Given the description of an element on the screen output the (x, y) to click on. 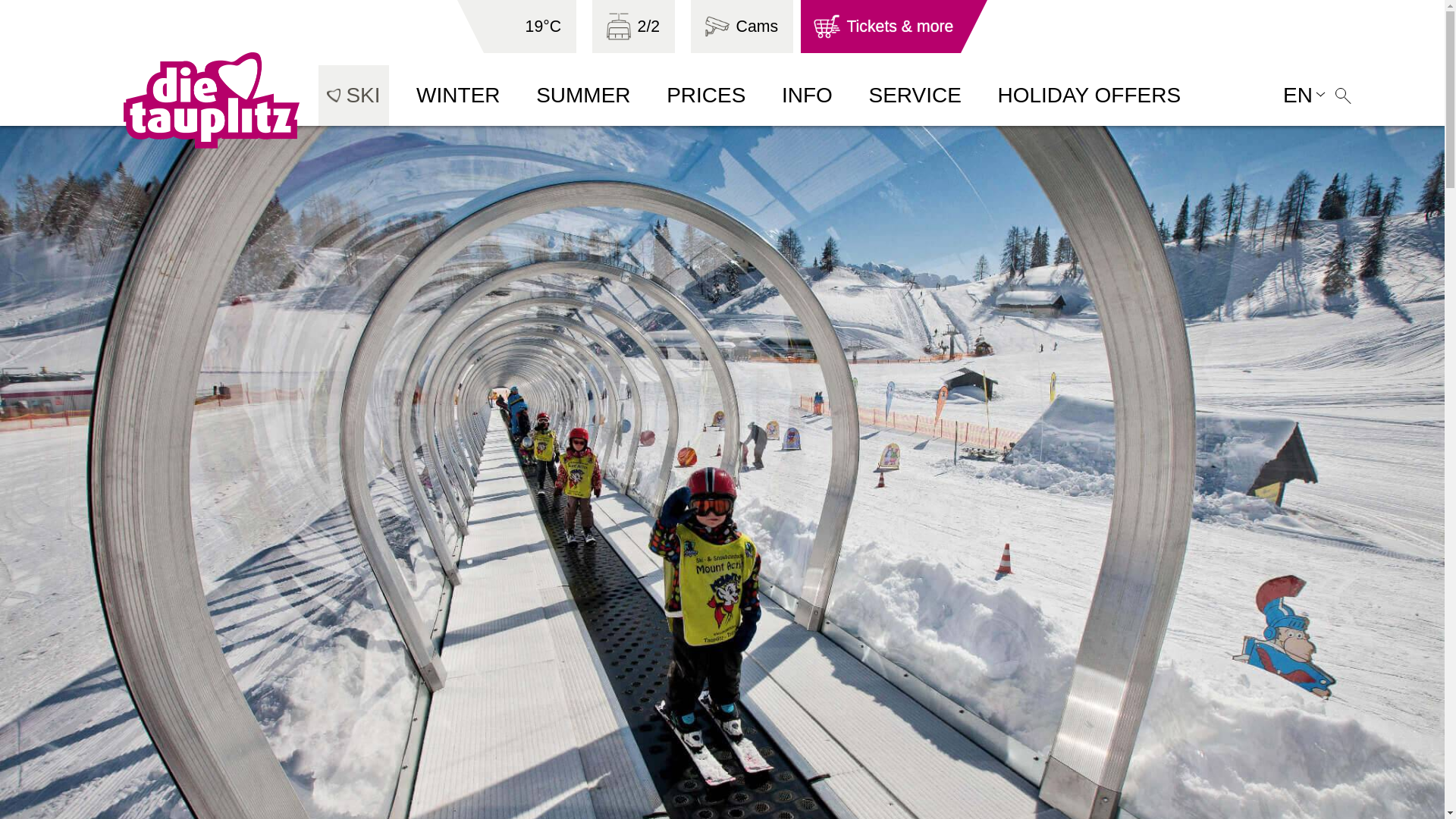
WINTER (448, 95)
Cams (741, 26)
SKI (353, 95)
Skiing on Die Tauplitz (353, 95)
go to homepage (150, 99)
